Given the description of an element on the screen output the (x, y) to click on. 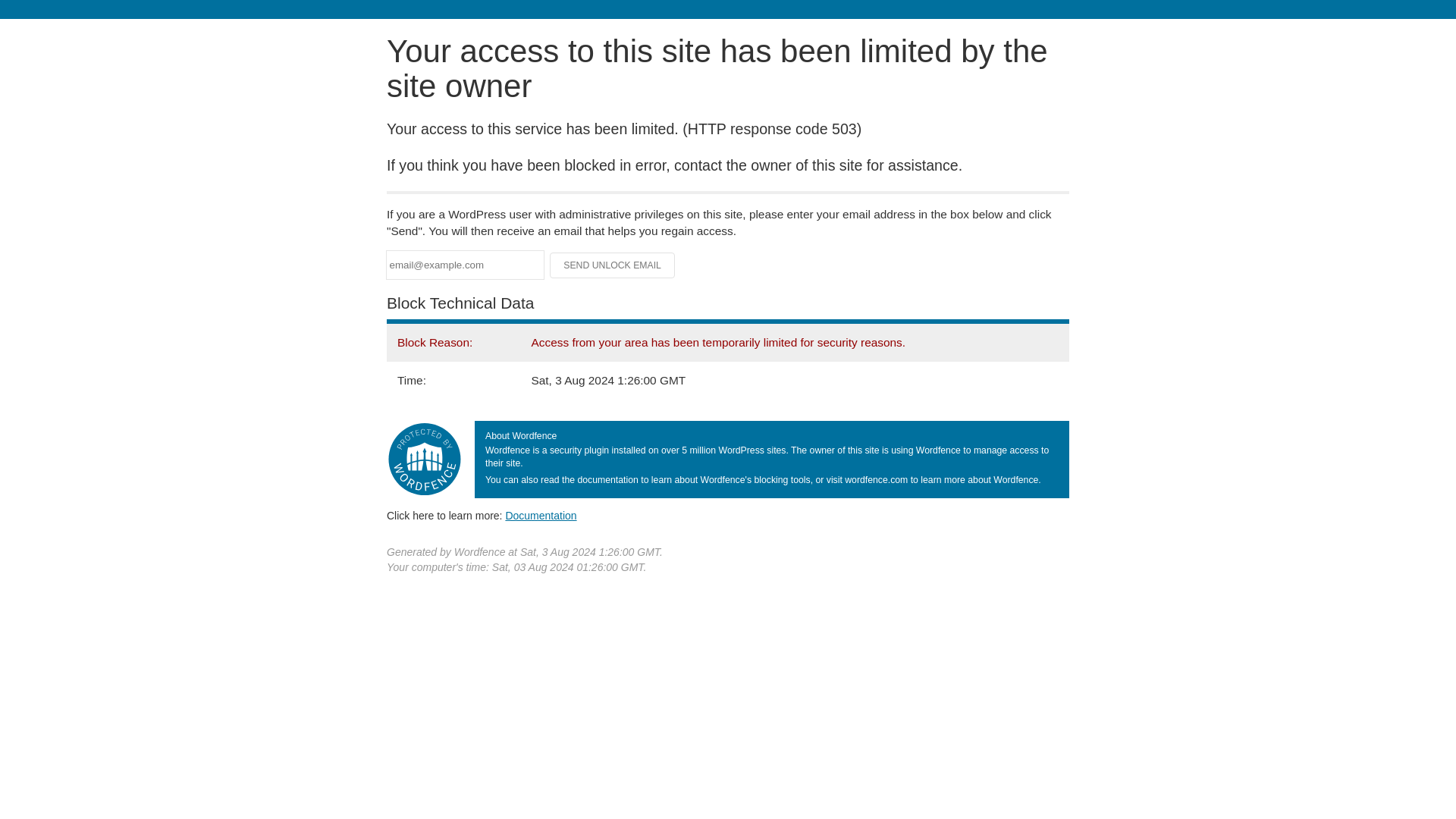
Documentation (540, 515)
Send Unlock Email (612, 265)
Send Unlock Email (612, 265)
